Given the description of an element on the screen output the (x, y) to click on. 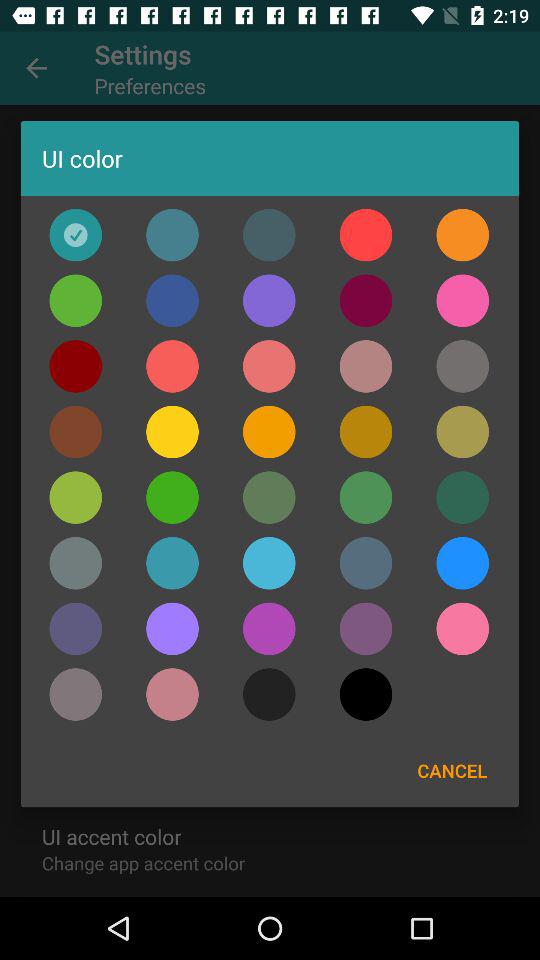
select the color (462, 234)
